Given the description of an element on the screen output the (x, y) to click on. 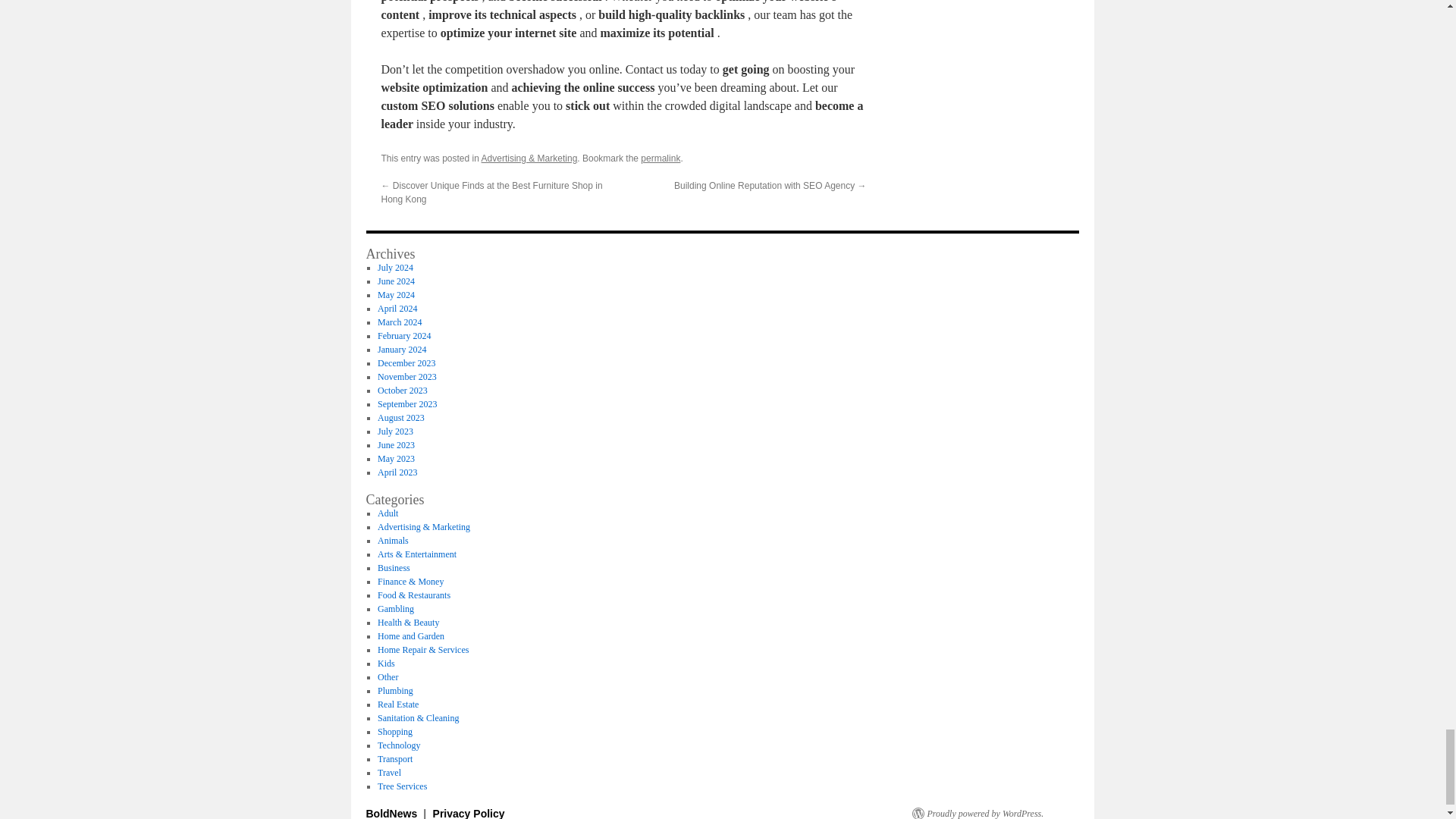
permalink (659, 158)
April 2024 (396, 308)
March 2024 (399, 321)
July 2024 (395, 267)
April 2023 (396, 471)
Adult (387, 512)
December 2023 (406, 362)
May 2023 (395, 458)
November 2023 (406, 376)
February 2024 (403, 335)
June 2023 (395, 444)
June 2024 (395, 281)
October 2023 (402, 389)
January 2024 (401, 348)
September 2023 (406, 403)
